Given the description of an element on the screen output the (x, y) to click on. 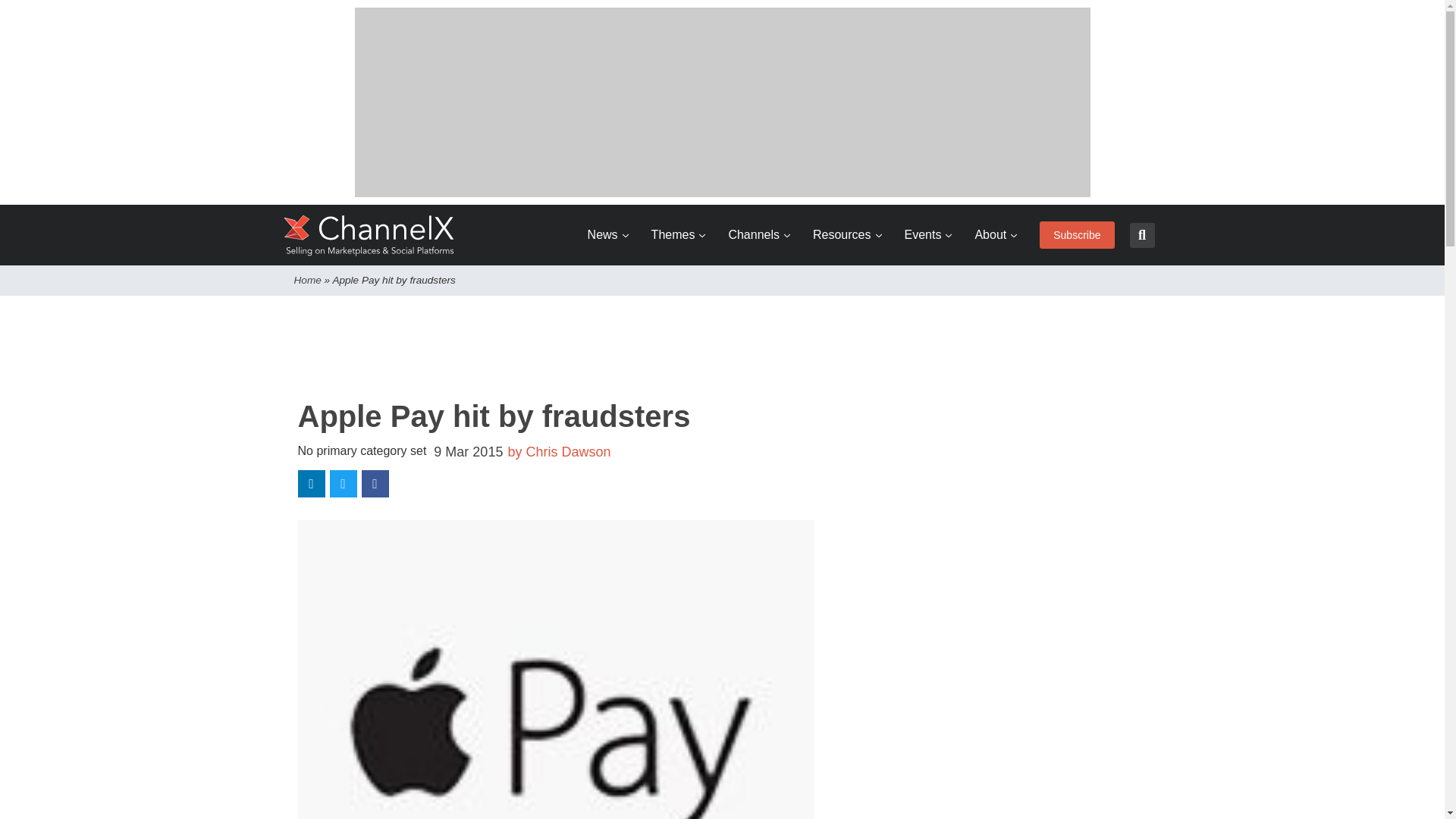
News (607, 234)
Channels (758, 234)
Themes (678, 234)
ChannelX Home Page (369, 234)
